Given the description of an element on the screen output the (x, y) to click on. 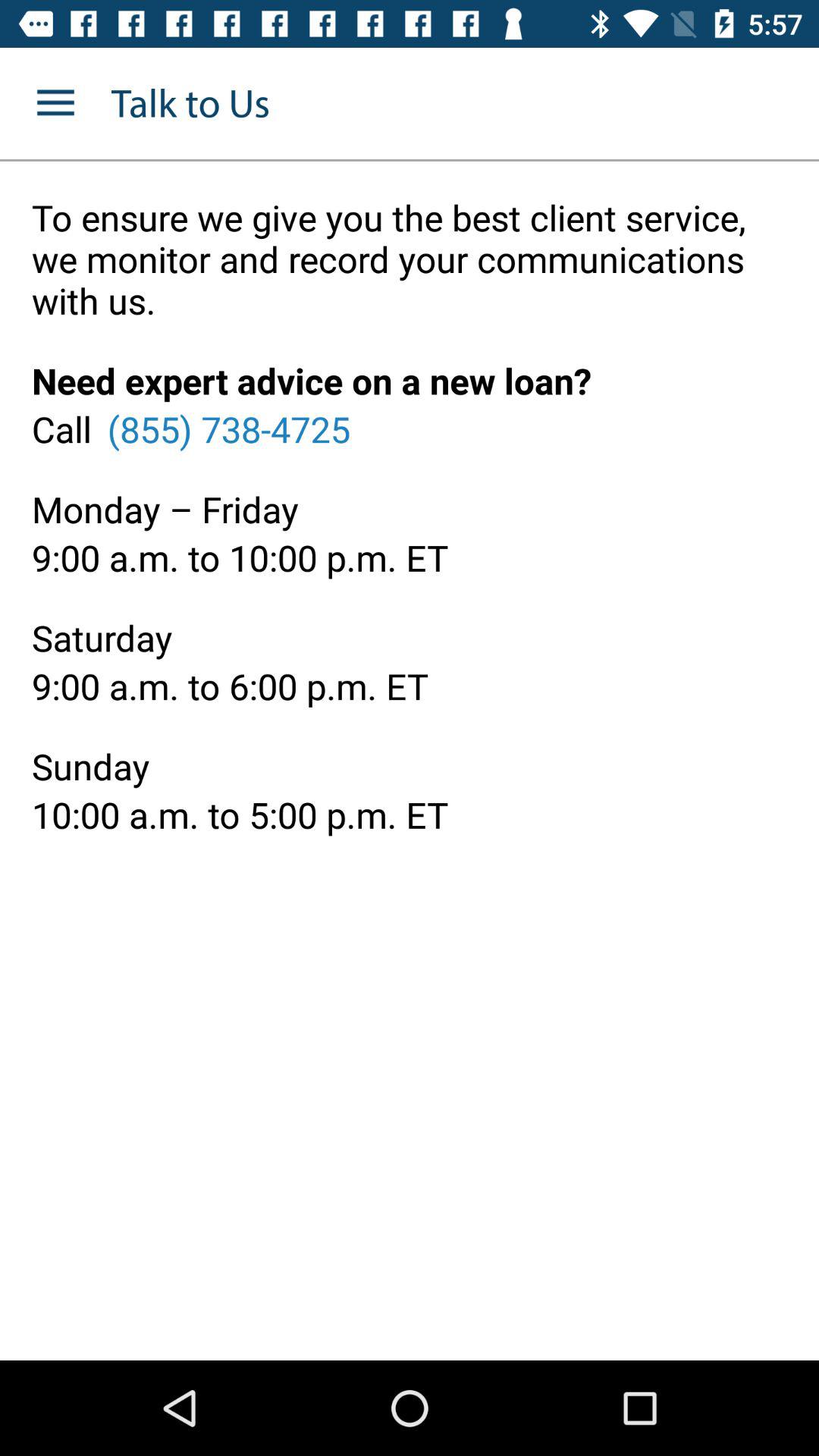
scroll to (855) 738-4725 (228, 428)
